Given the description of an element on the screen output the (x, y) to click on. 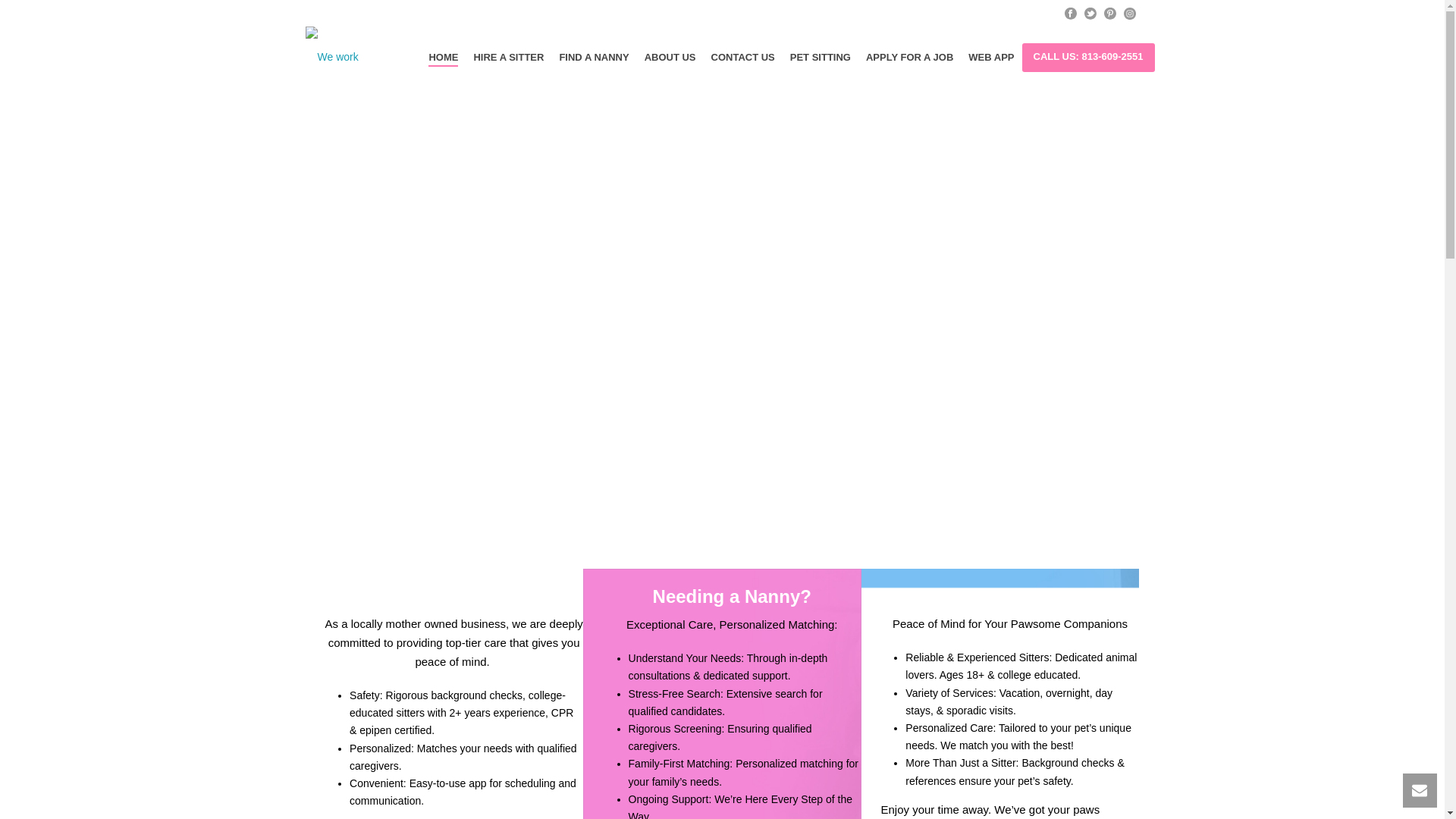
HOME (442, 57)
ABOUT US (670, 57)
HOME (442, 57)
WEB APP (991, 57)
CONTACT US (743, 57)
WEB APP (991, 57)
PET SITTING (821, 57)
HIRE A SITTER (508, 57)
FIND A NANNY (593, 57)
HIRE A SITTER (508, 57)
PET SITTING (821, 57)
FIND A NANNY (593, 57)
CALL US: 813-609-2551 (1088, 57)
CONTACT US (743, 57)
